Given the description of an element on the screen output the (x, y) to click on. 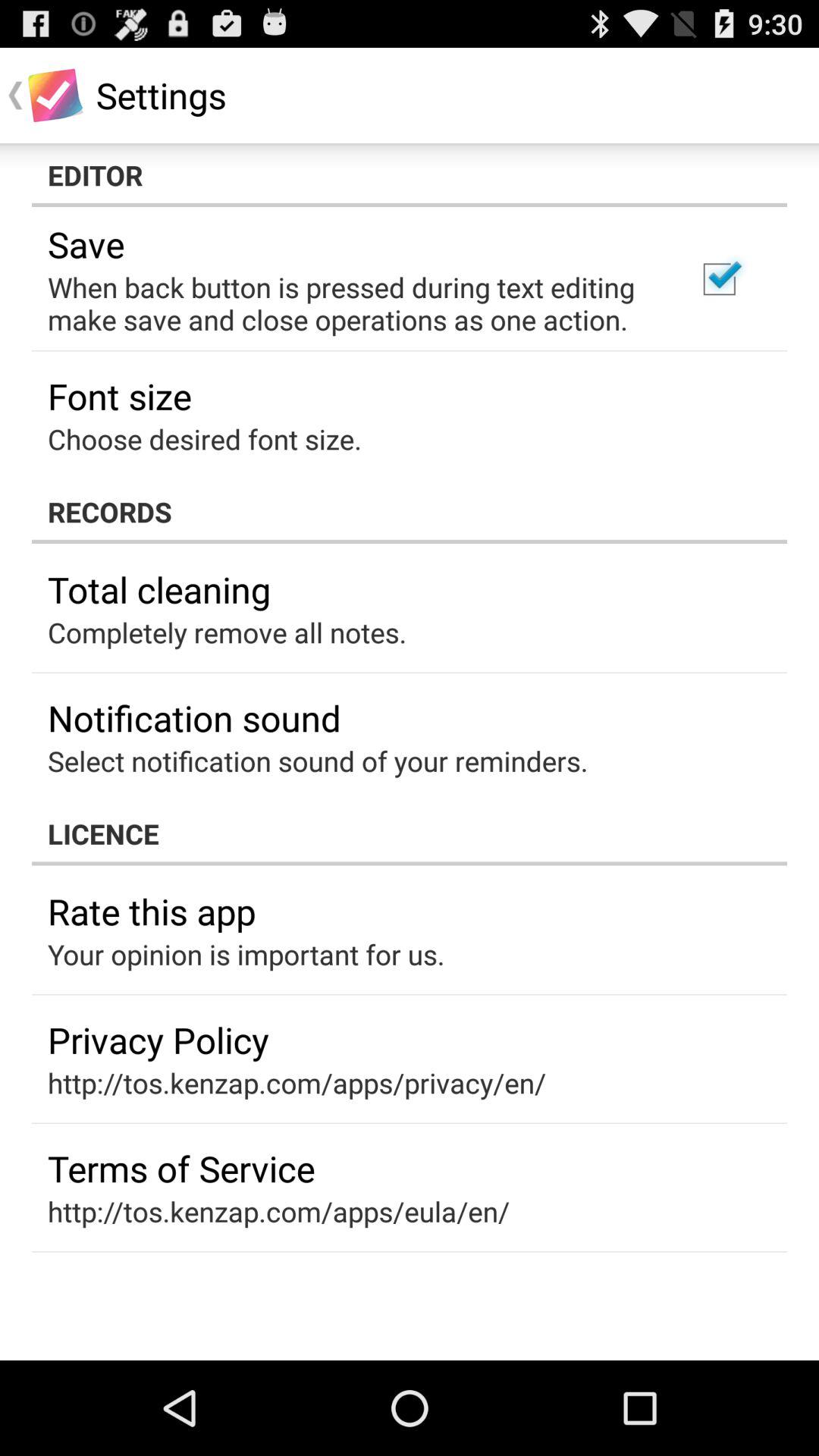
turn on the app below the editor app (719, 279)
